Given the description of an element on the screen output the (x, y) to click on. 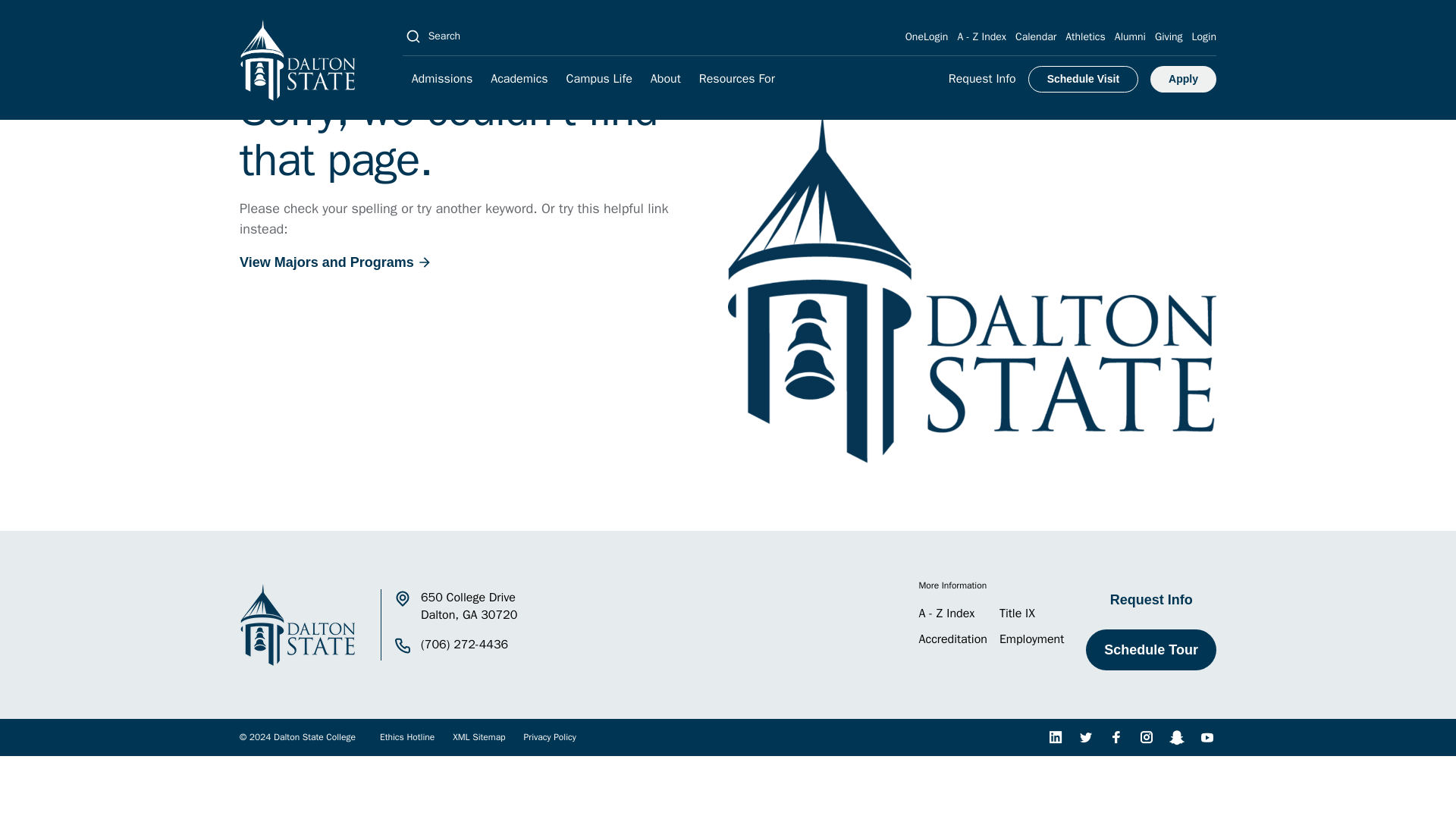
Login (1203, 36)
Athletics (1085, 36)
Calendar (1035, 36)
A - Z Index (981, 36)
Giving (1168, 36)
Admissions (442, 78)
Alumni (1130, 36)
OneLogin (927, 36)
